Given the description of an element on the screen output the (x, y) to click on. 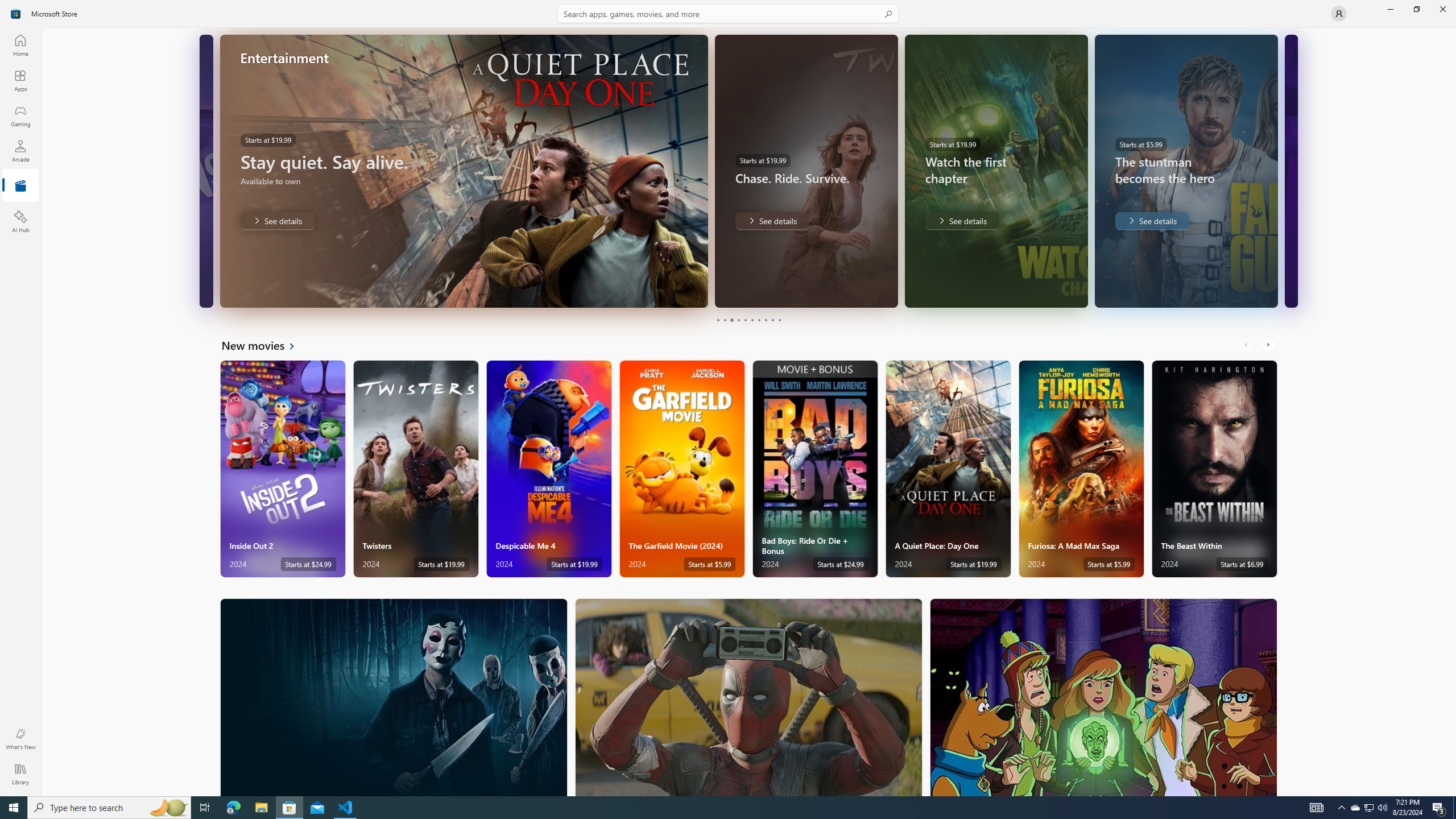
See all  New movies (264, 345)
Family (1102, 697)
Page 3 (731, 319)
Horror (393, 697)
Page 7 (758, 319)
Page 2 (724, 319)
AutomationID: LeftScrollButton (1246, 344)
The Garfield Movie (2024). Starts at $5.99   (681, 469)
Page 10 (779, 319)
Page 8 (764, 319)
